Given the description of an element on the screen output the (x, y) to click on. 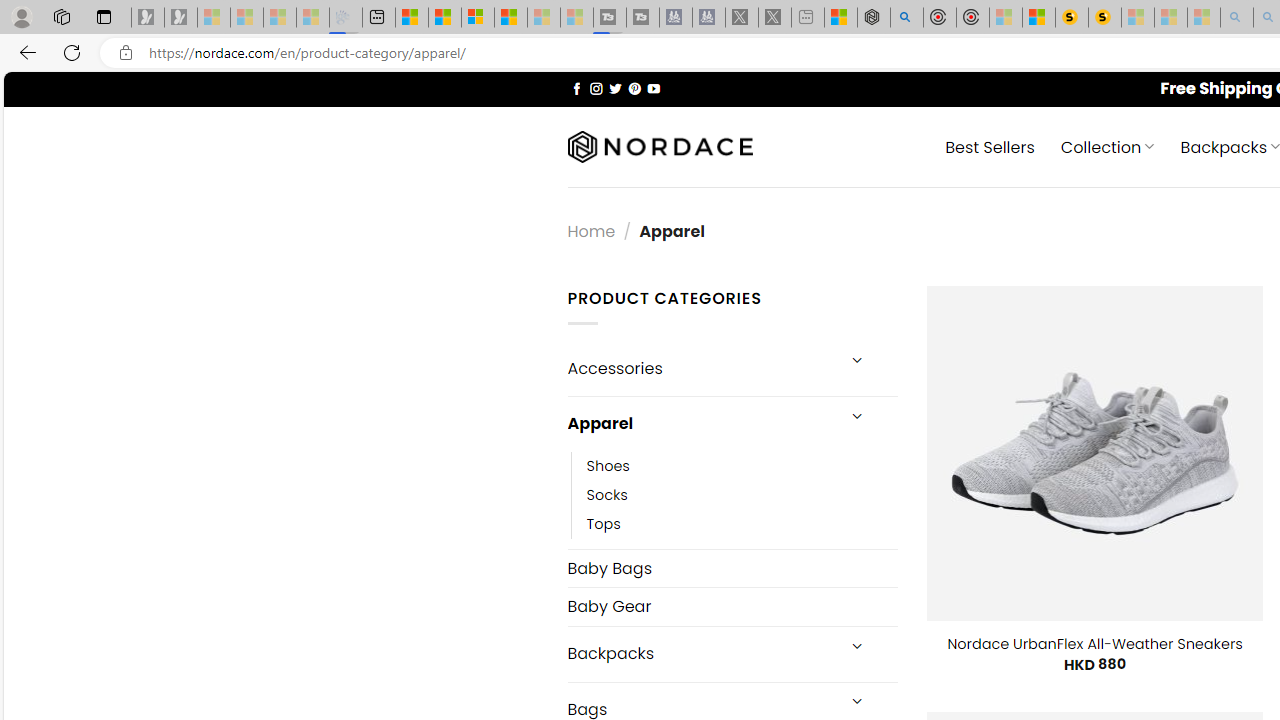
New tab - Sleeping (808, 17)
Microsoft Start - Sleeping (543, 17)
Shoes (742, 465)
amazon - Search - Sleeping (1237, 17)
Backpacks (700, 654)
Baby Bags (732, 568)
Shoes (607, 465)
Socks (742, 494)
